Given the description of an element on the screen output the (x, y) to click on. 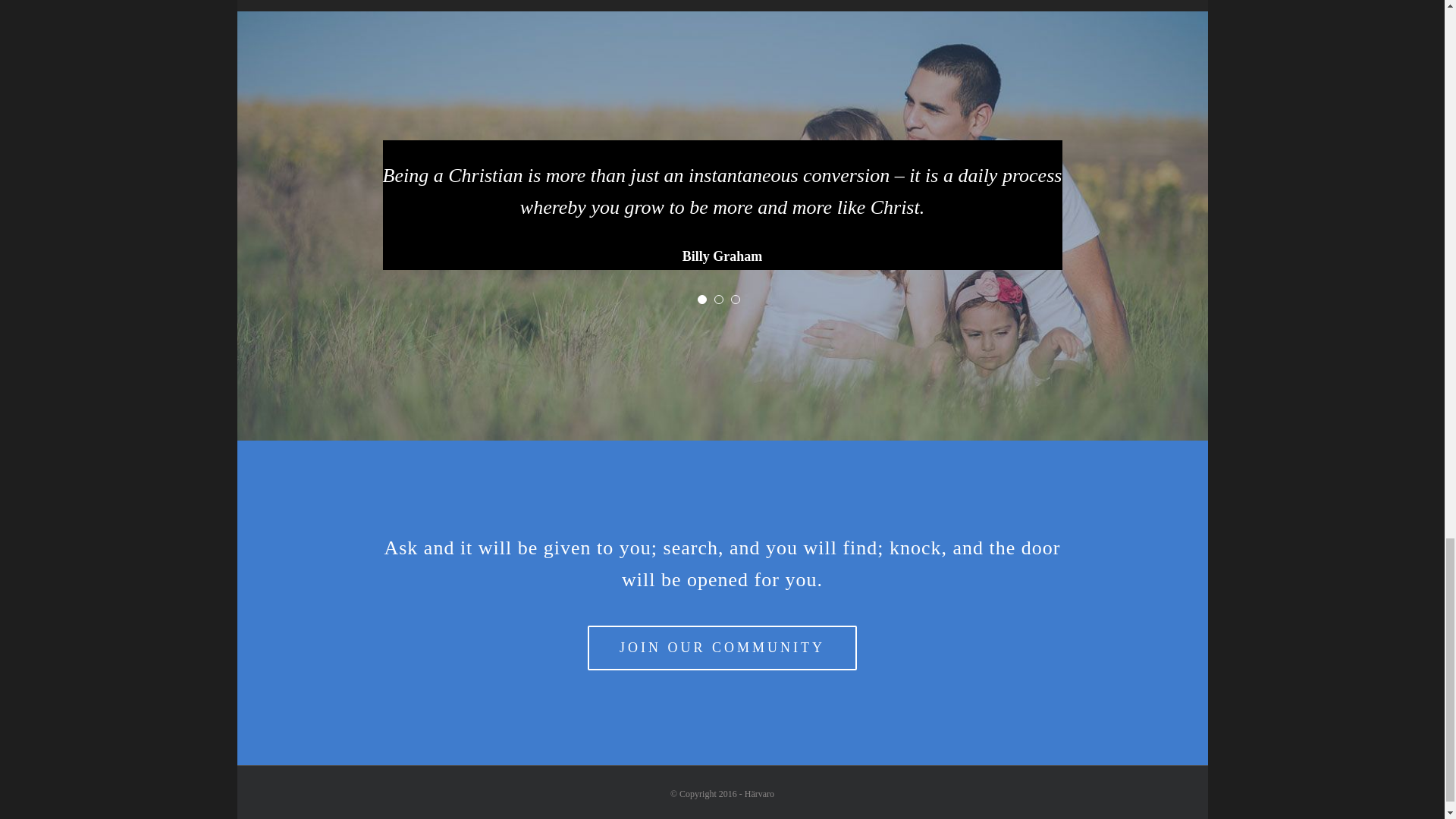
JOIN OUR COMMUNITY (722, 647)
